Given the description of an element on the screen output the (x, y) to click on. 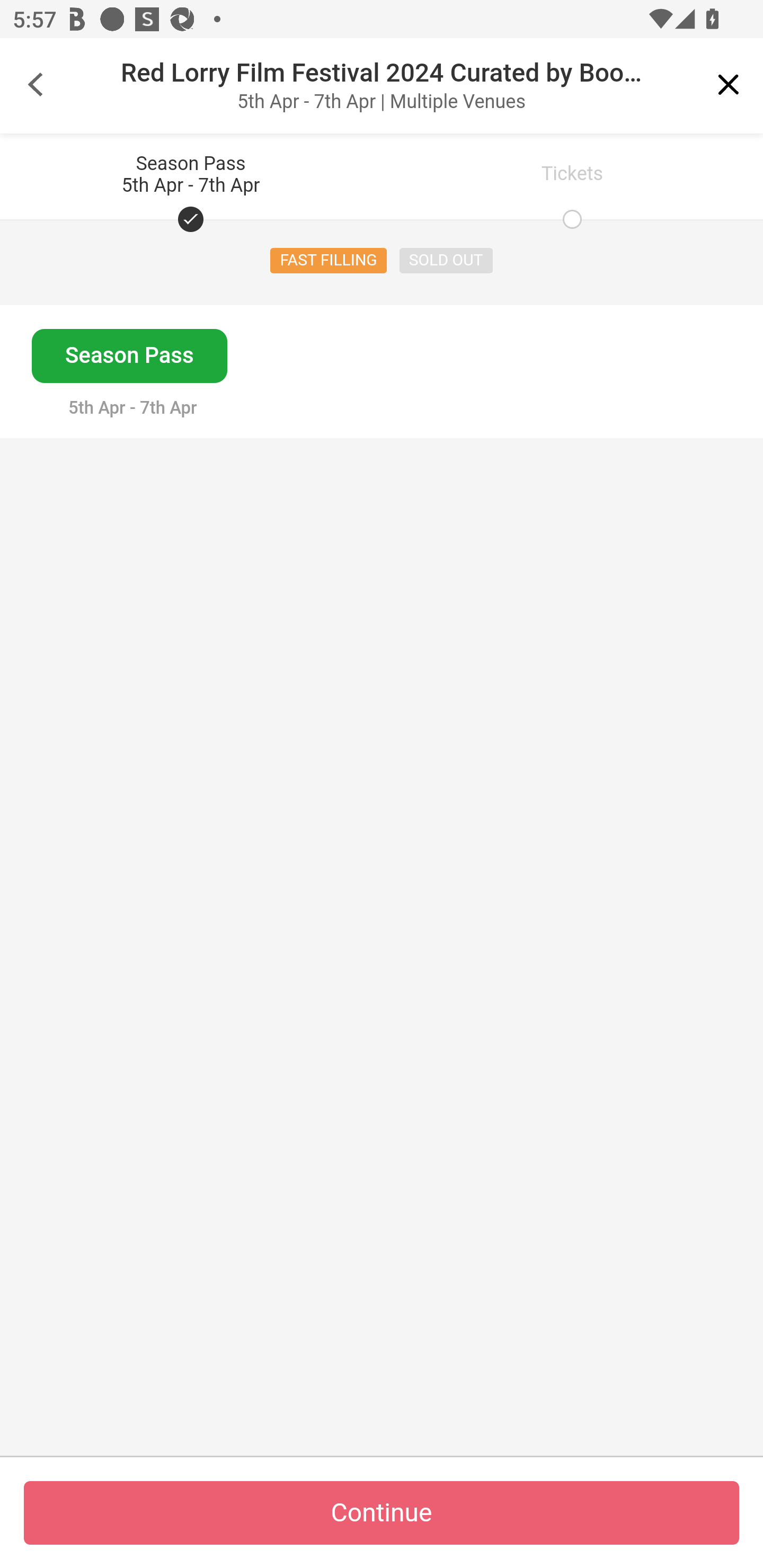
Season Pass 5th Apr - 7th Apr (190, 176)
Tickets (572, 176)
Season Pass (129, 355)
Continue (381, 1512)
